Given the description of an element on the screen output the (x, y) to click on. 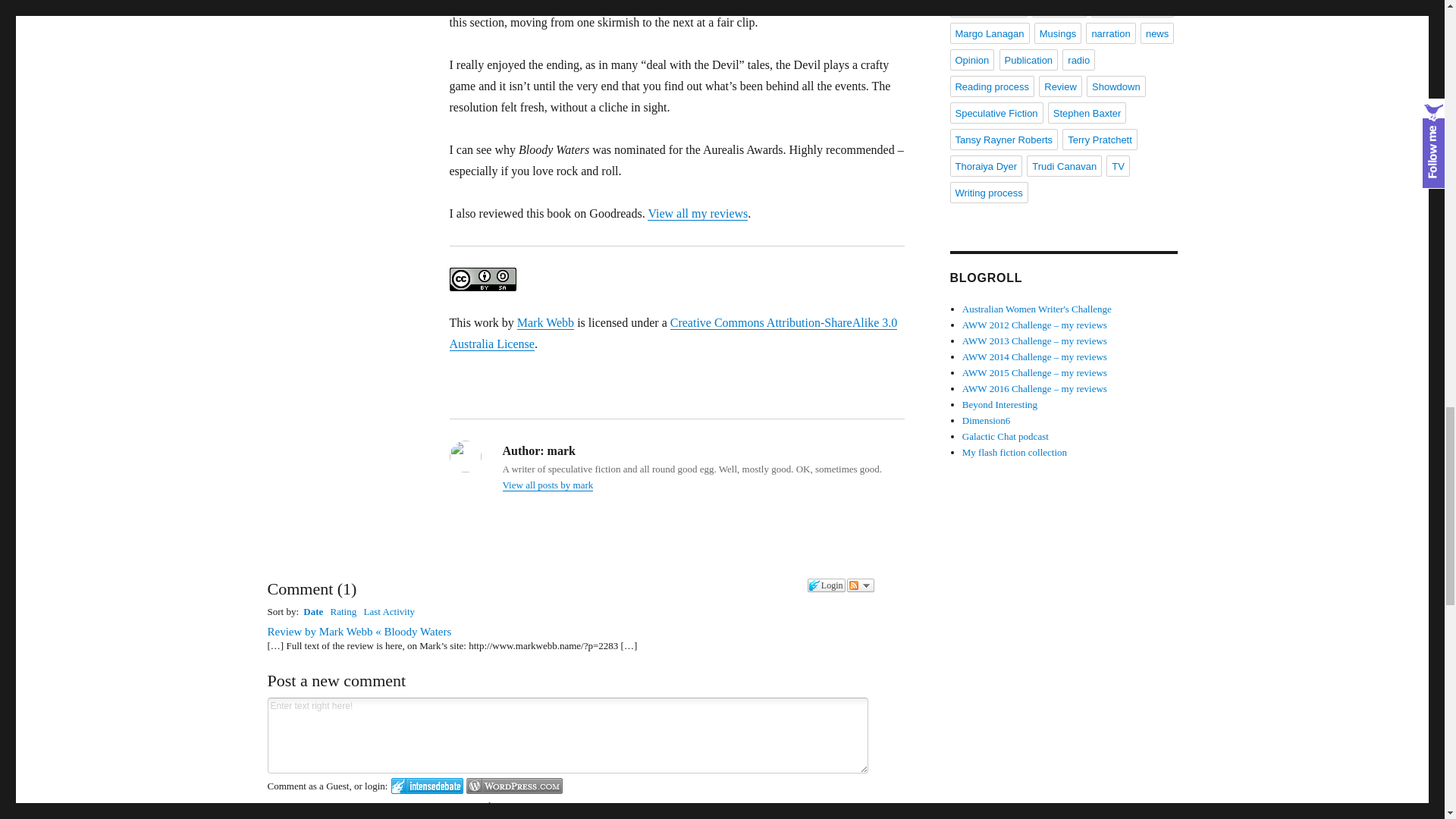
Mark Webb (544, 322)
Goodreads reviews (697, 213)
Dimension6 is an Australian speculative fiction magazine (986, 419)
Reviews completed as a part of the AWW 2012 Challenge (1034, 324)
View all my reviews (697, 213)
Australian Women Writers Challenge 2015 (1034, 372)
Australian Women Writers Challenge 2014 (1034, 356)
